Given the description of an element on the screen output the (x, y) to click on. 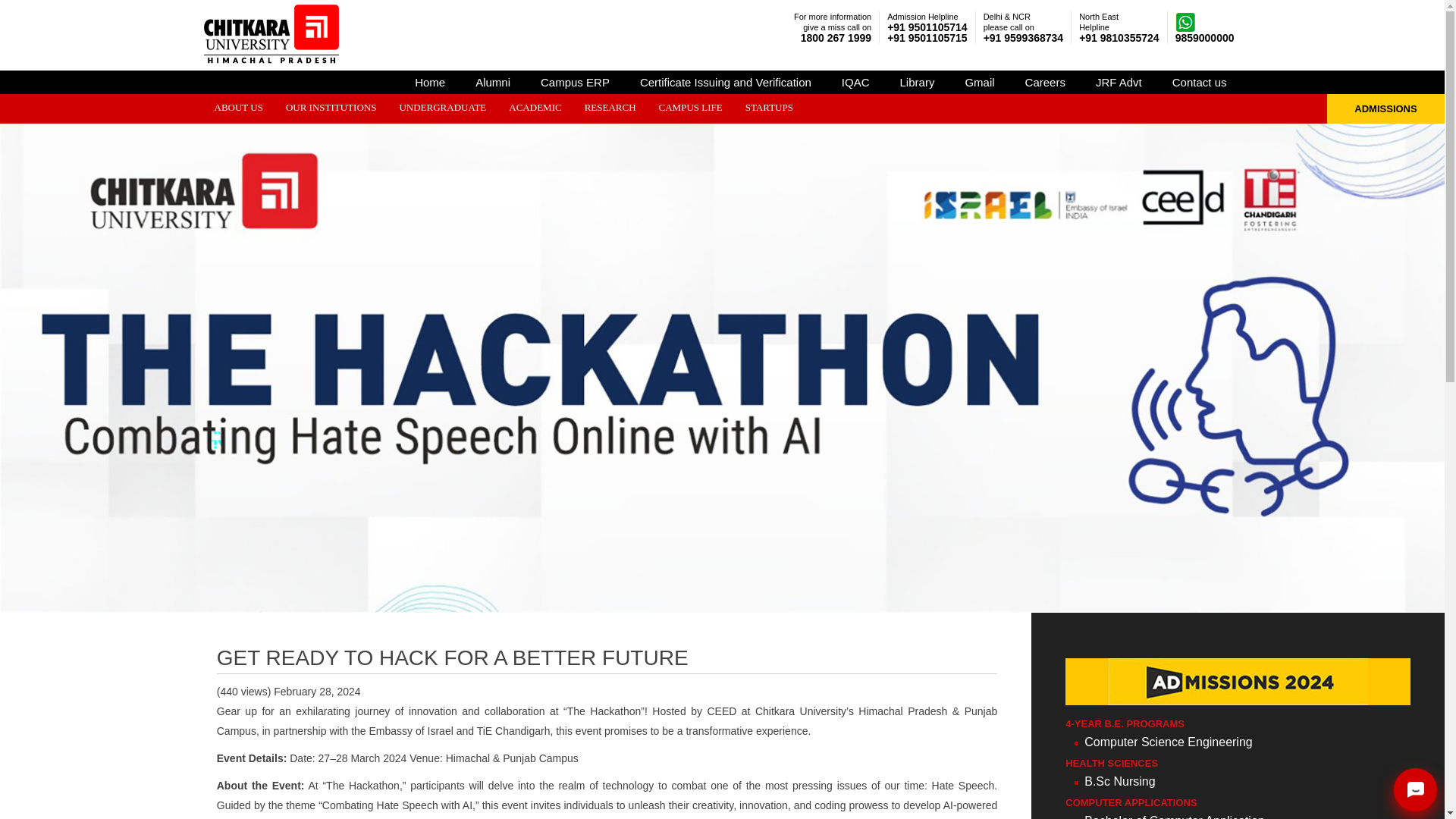
chitkara University (271, 33)
